Given the description of an element on the screen output the (x, y) to click on. 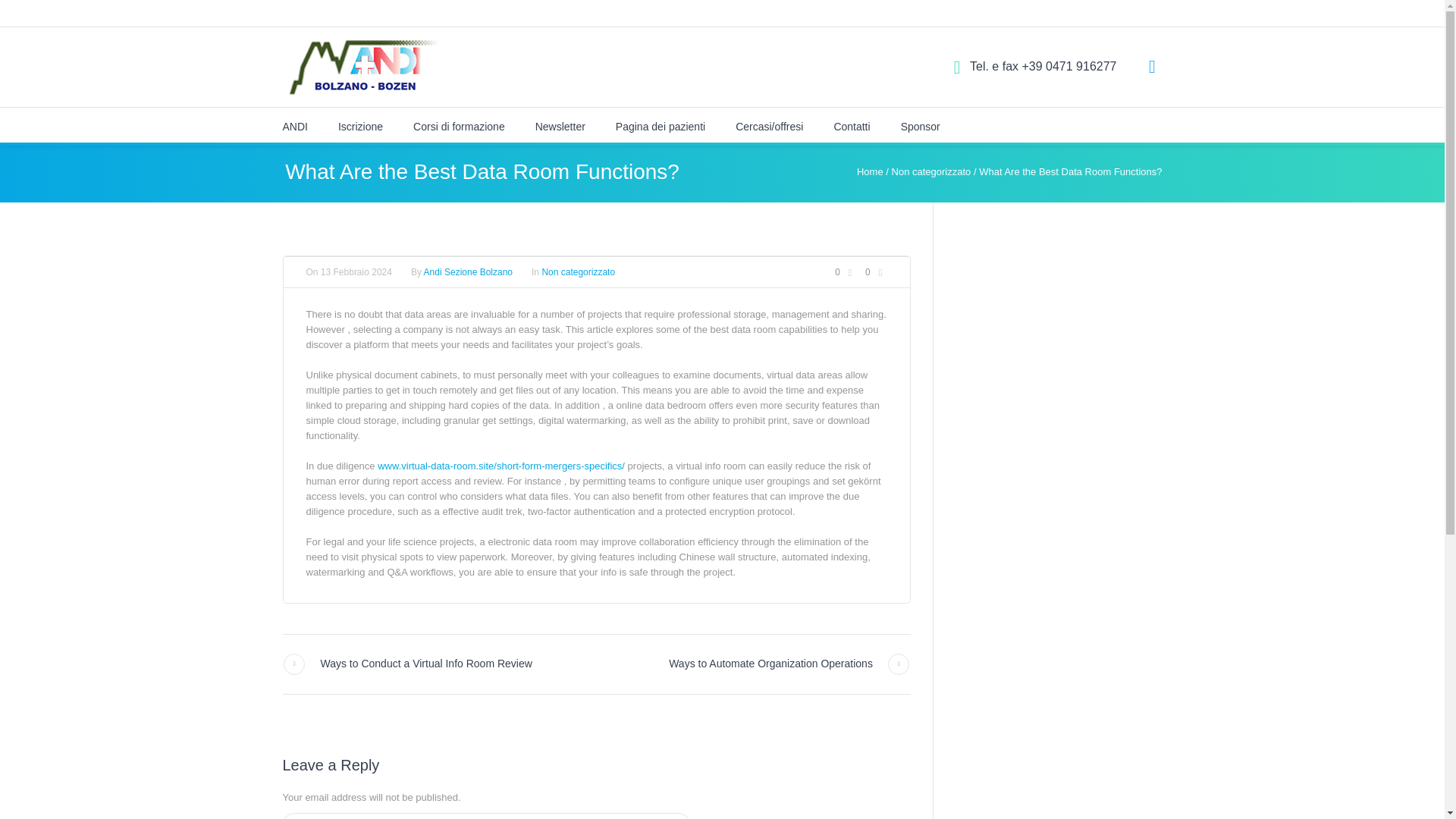
Rifiuta (951, 212)
Corsi di formazione (459, 126)
Newsletter (560, 126)
13 Febbraio 2024 (355, 272)
Sponsor (920, 126)
Comment on What Are the Best Data Room Functions? (845, 272)
Pagina dei pazienti (659, 126)
Iscrizione (359, 126)
Accetta (1042, 212)
Contatti (850, 126)
Non vendere le mie informazioni personali (827, 131)
cookie policy (658, 87)
Posts by Andi Sezione Bolzano (467, 271)
privacy policy (494, 161)
